Given the description of an element on the screen output the (x, y) to click on. 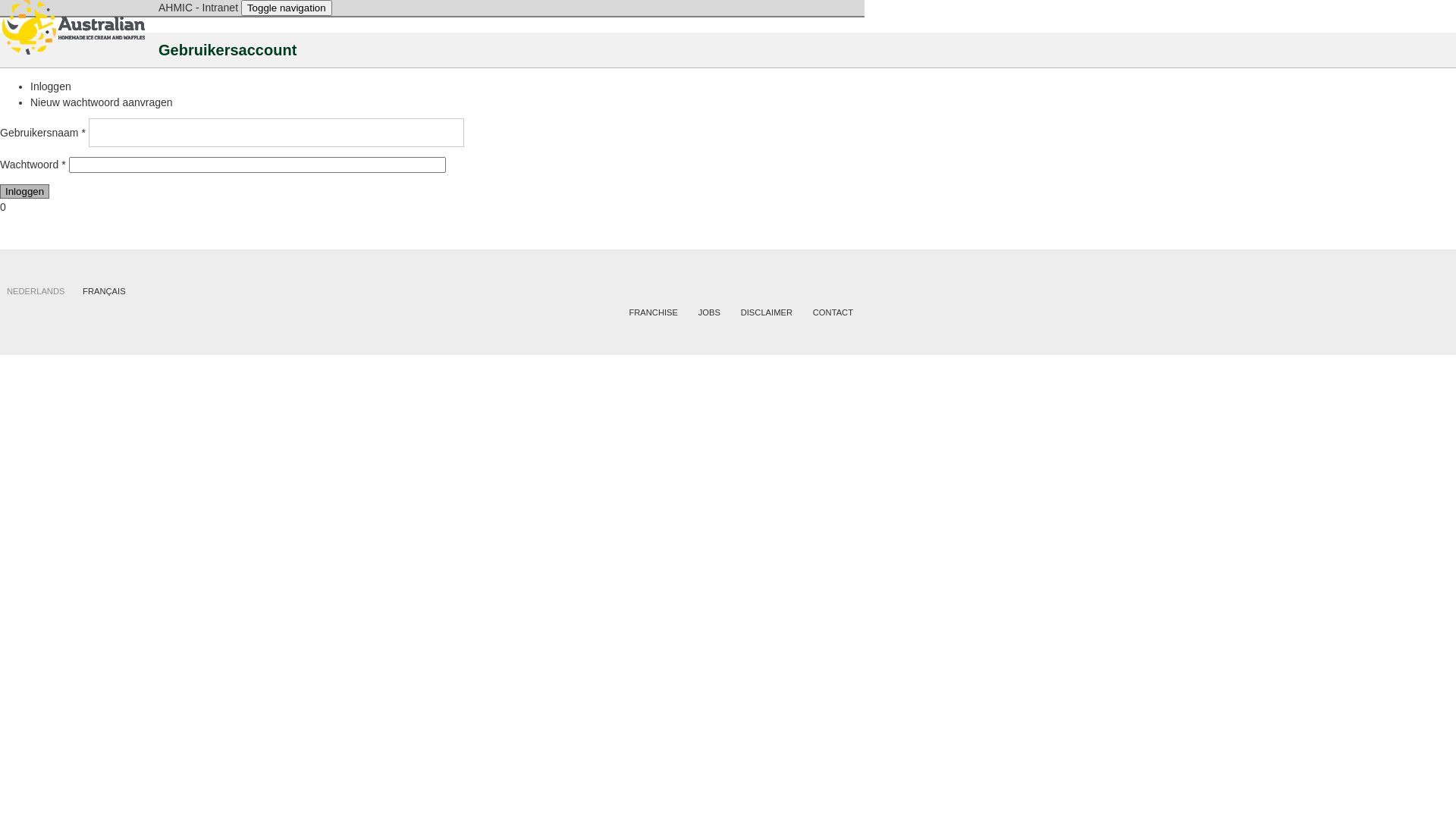
Inloggen Element type: text (24, 191)
FRANCHISE Element type: text (652, 311)
Nieuw wachtwoord aanvragen Element type: text (101, 102)
CONTACT Element type: text (832, 311)
Vul uw AHMIC - Intranet-gebruikersnaam in. Element type: hover (276, 132)
Toggle navigation Element type: text (286, 7)
Home Element type: hover (79, 29)
DISCLAIMER Element type: text (766, 311)
Inloggen
(actieve tabblad) Element type: text (50, 86)
NEDERLANDS Element type: text (35, 290)
AHMIC - Intranet Element type: text (198, 7)
Geef het wachtwoord dat bij uw gebruikersnaam hoort. Element type: hover (257, 164)
Overslaan en naar de inhoud gaan Element type: text (0, 0)
JOBS Element type: text (709, 311)
